Given the description of an element on the screen output the (x, y) to click on. 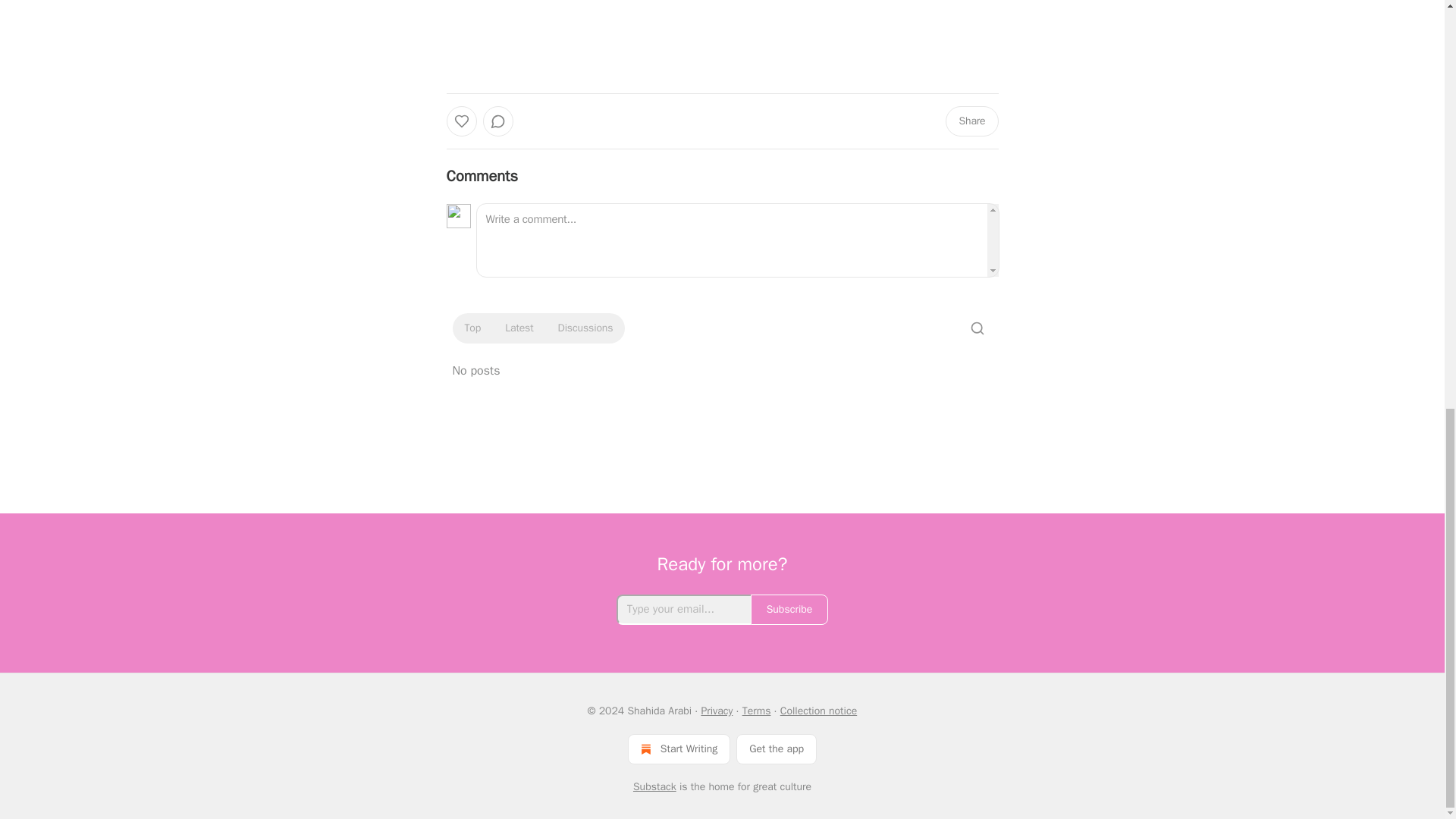
Latest (518, 328)
Top (471, 328)
Share (970, 121)
Subscribe (789, 609)
Discussions (585, 328)
